Given the description of an element on the screen output the (x, y) to click on. 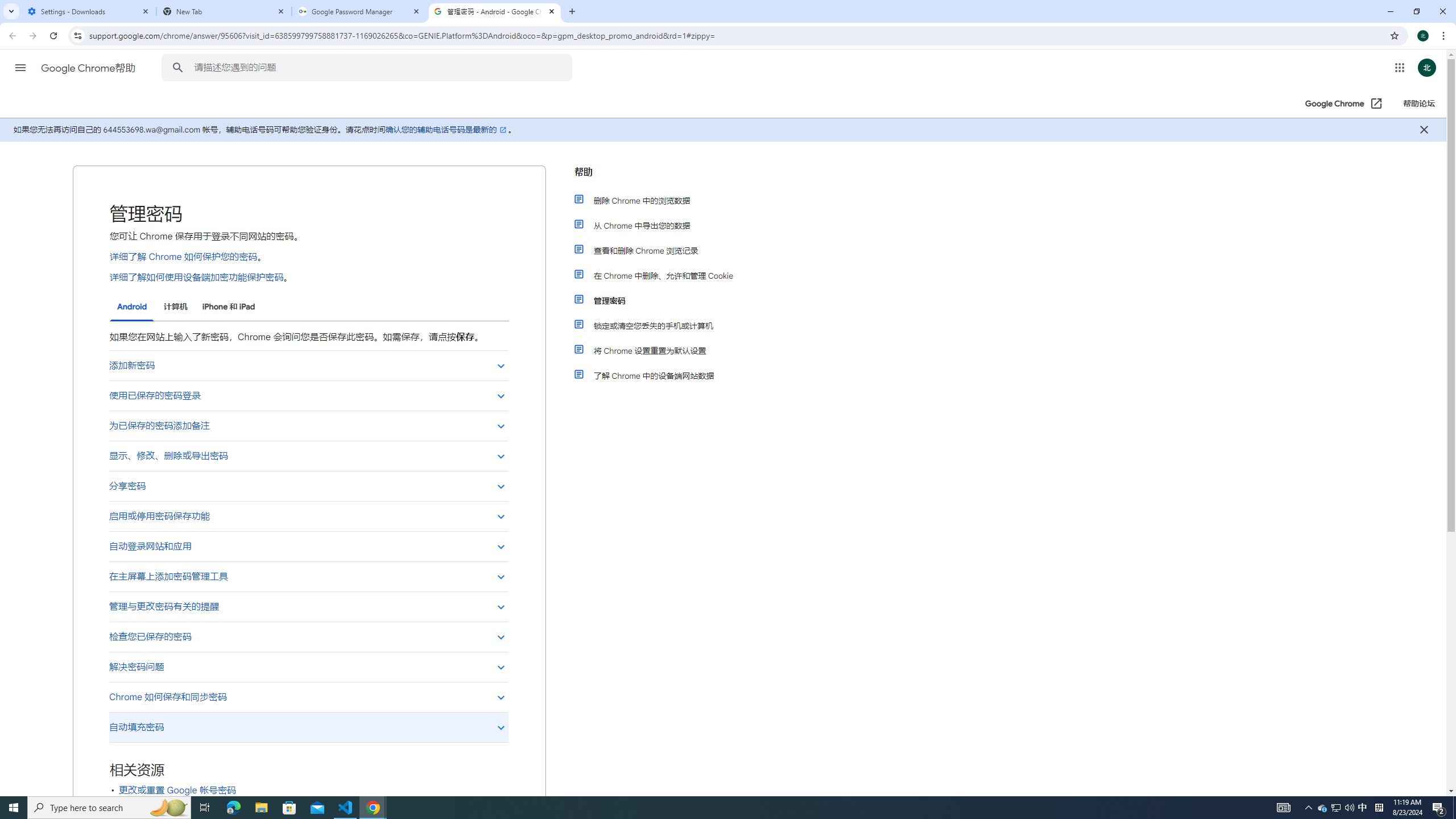
New Tab (224, 11)
